Given the description of an element on the screen output the (x, y) to click on. 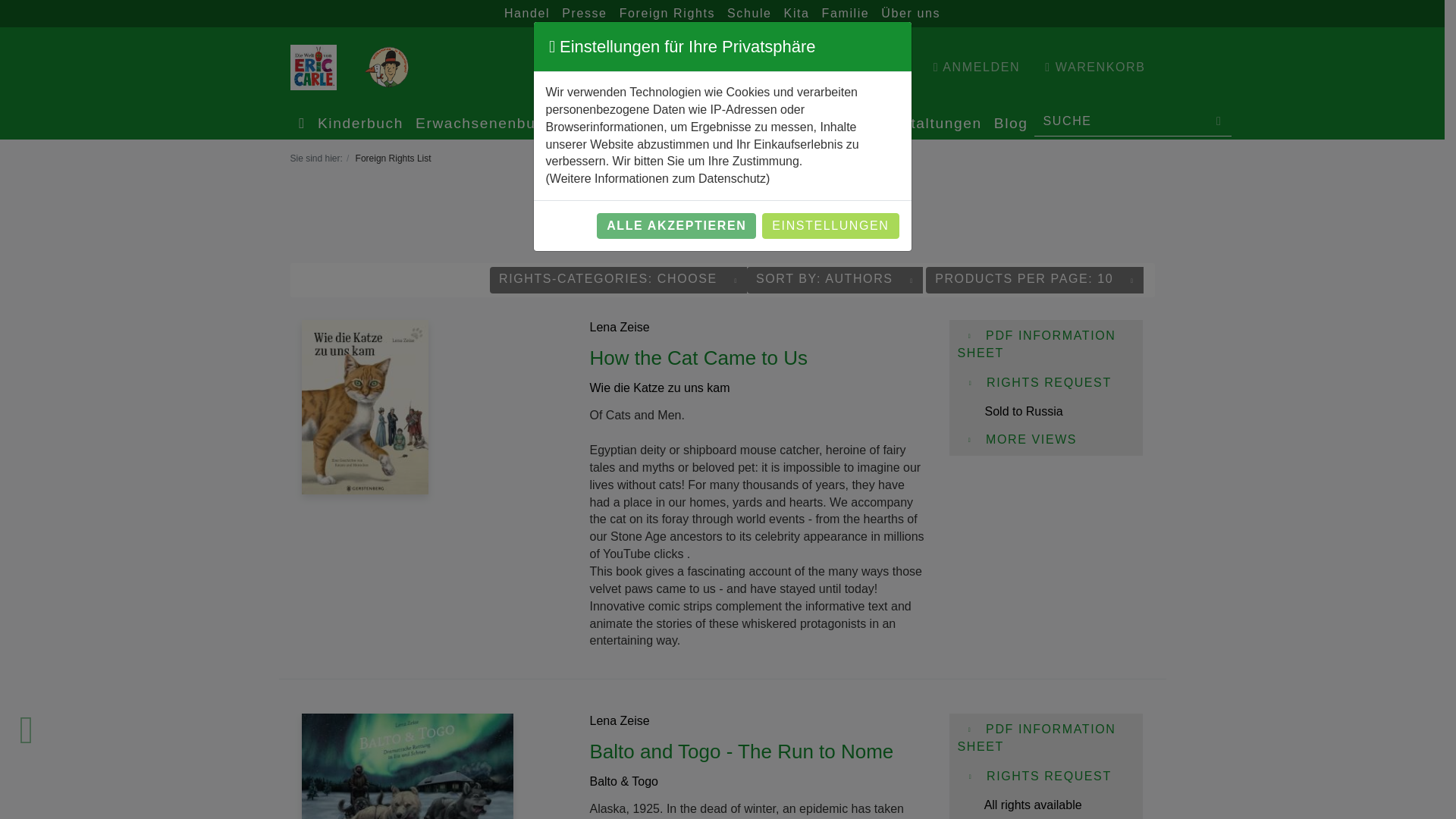
Foreign Rights (666, 13)
Kita (796, 13)
Presse (584, 13)
Weitere Informationen zum Datenschutz (657, 178)
Handel (526, 13)
Schule (748, 13)
EINSTELLUNGEN (829, 225)
ALLE AKZEPTIEREN (675, 225)
